Given the description of an element on the screen output the (x, y) to click on. 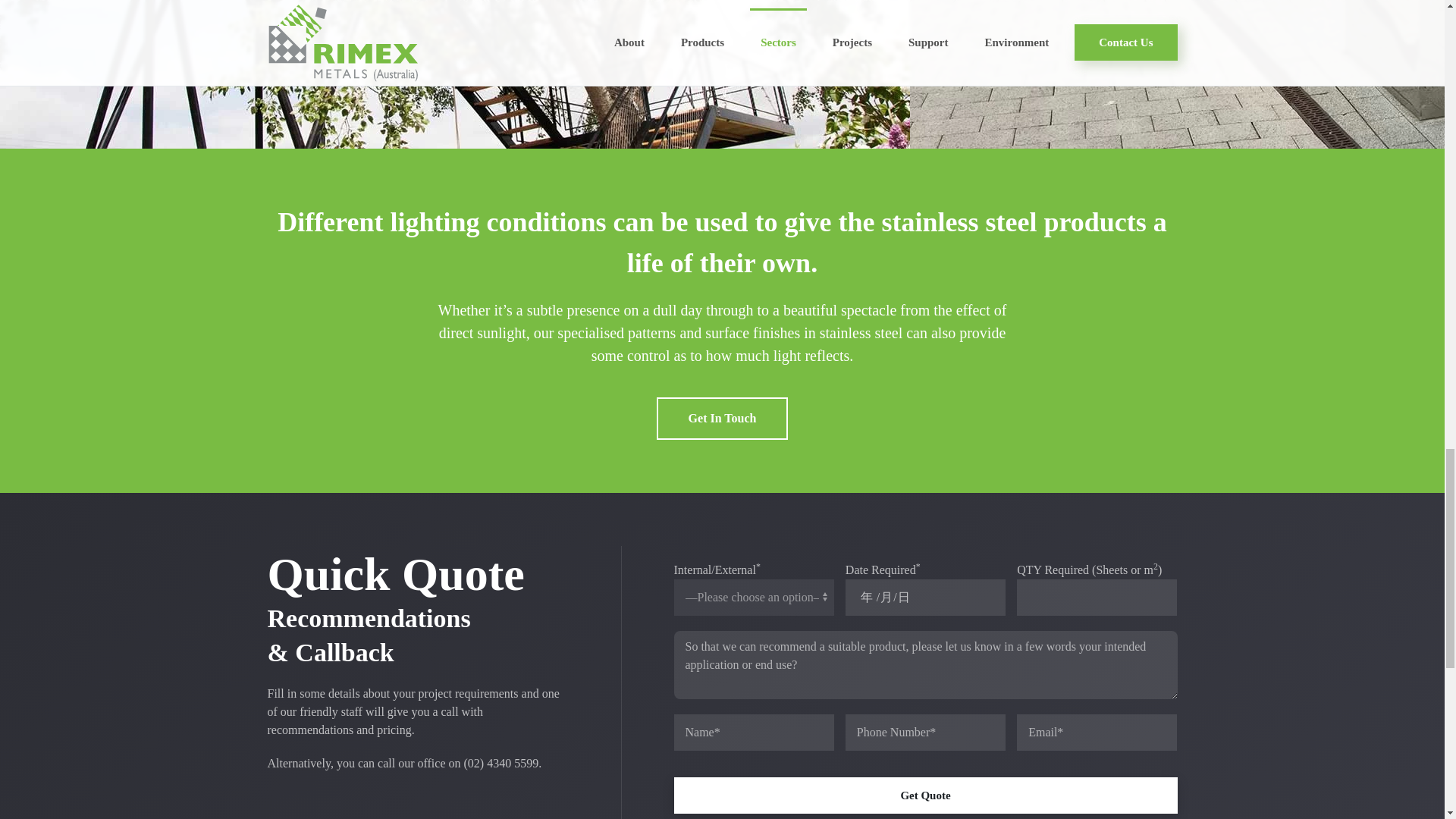
Get Quote (924, 795)
